Given the description of an element on the screen output the (x, y) to click on. 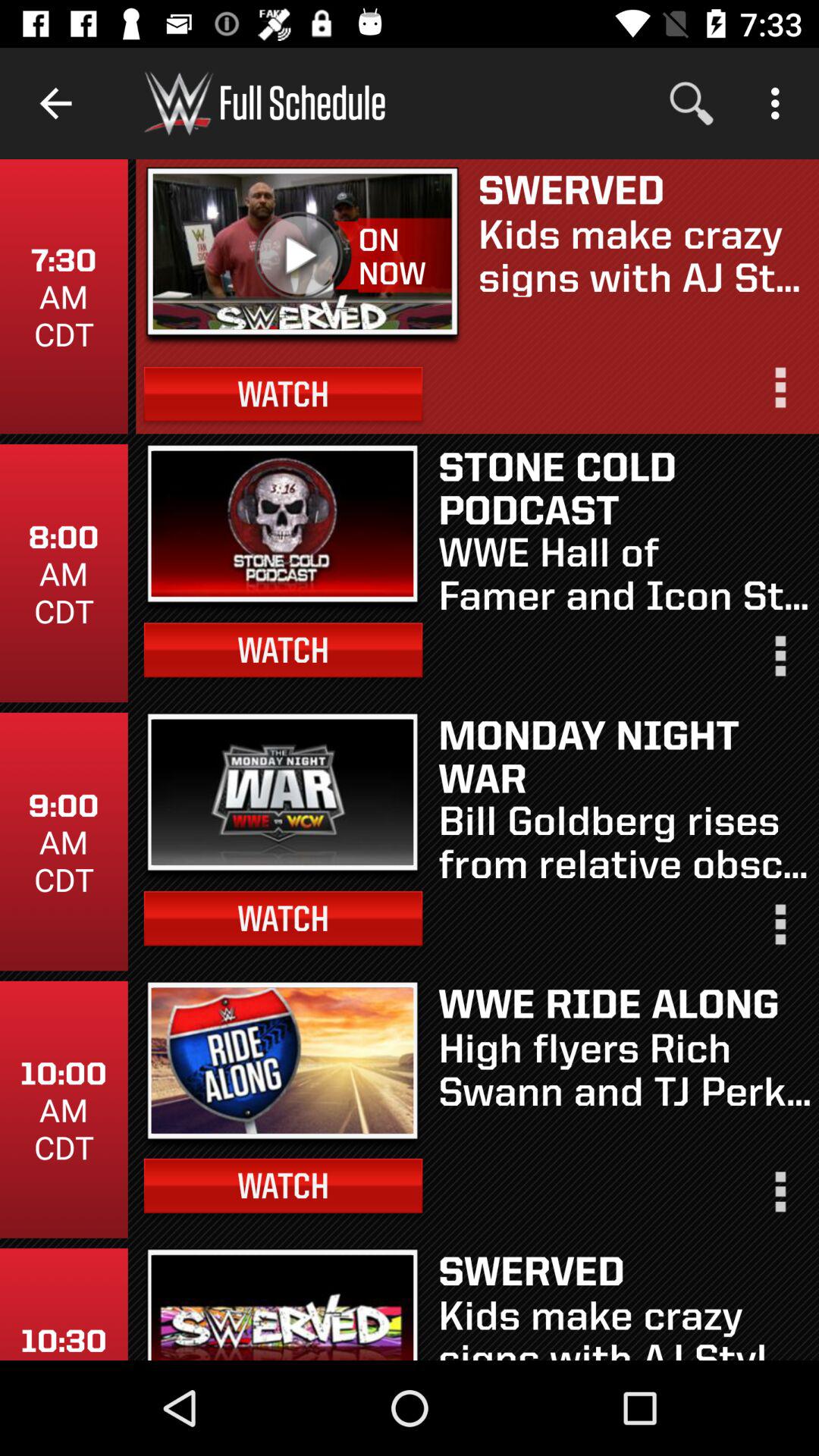
jump until the on now (404, 256)
